Given the description of an element on the screen output the (x, y) to click on. 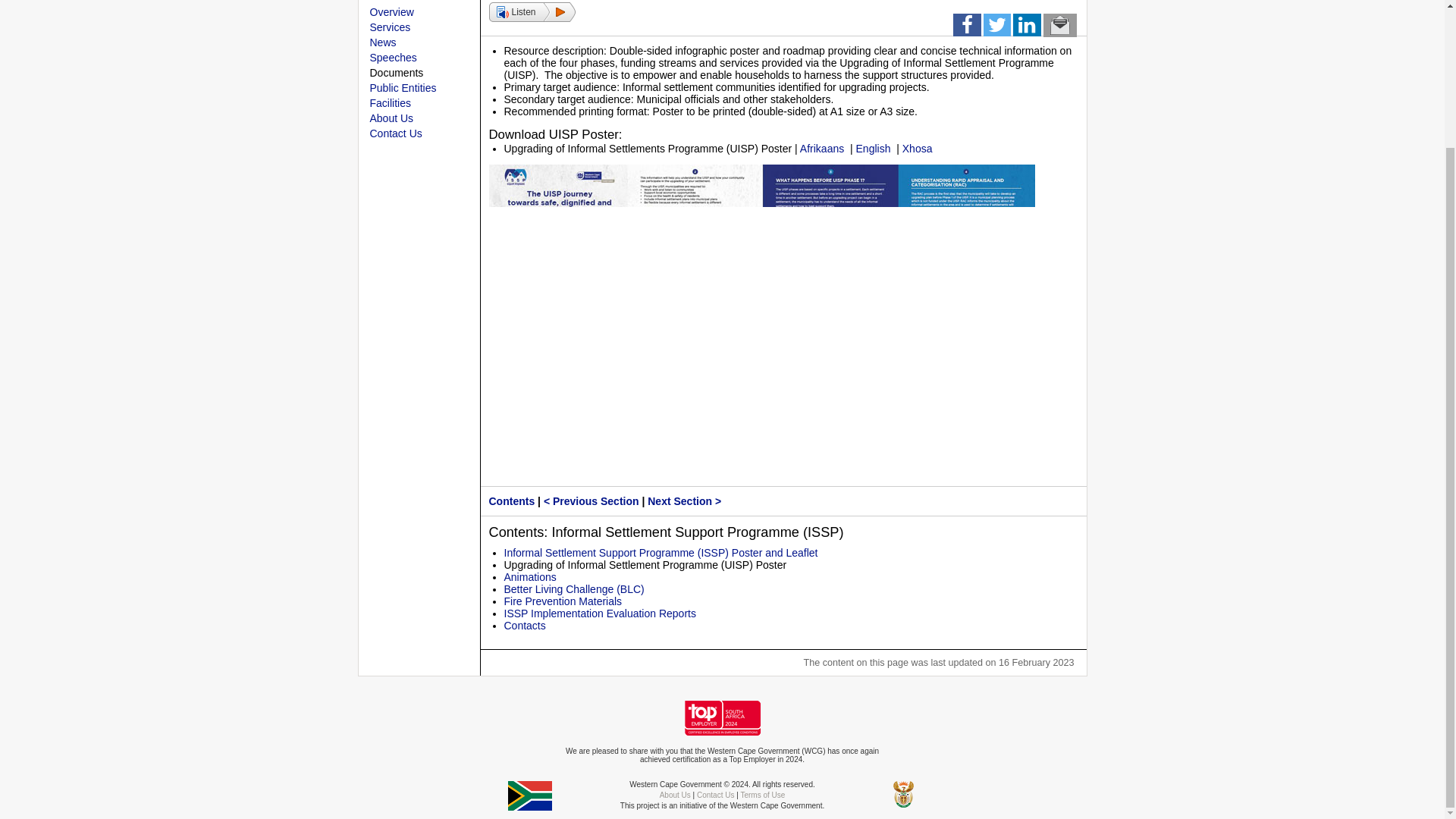
Share via email (1060, 28)
News (382, 42)
Speeches (392, 57)
Services (389, 27)
Share on Facebook (966, 28)
Listen to this page using ReadSpeaker (531, 12)
Public Entities (402, 87)
Facilities (389, 102)
Overview (391, 11)
Share on Twitter (997, 28)
Share on Linkedin (1027, 28)
